Given the description of an element on the screen output the (x, y) to click on. 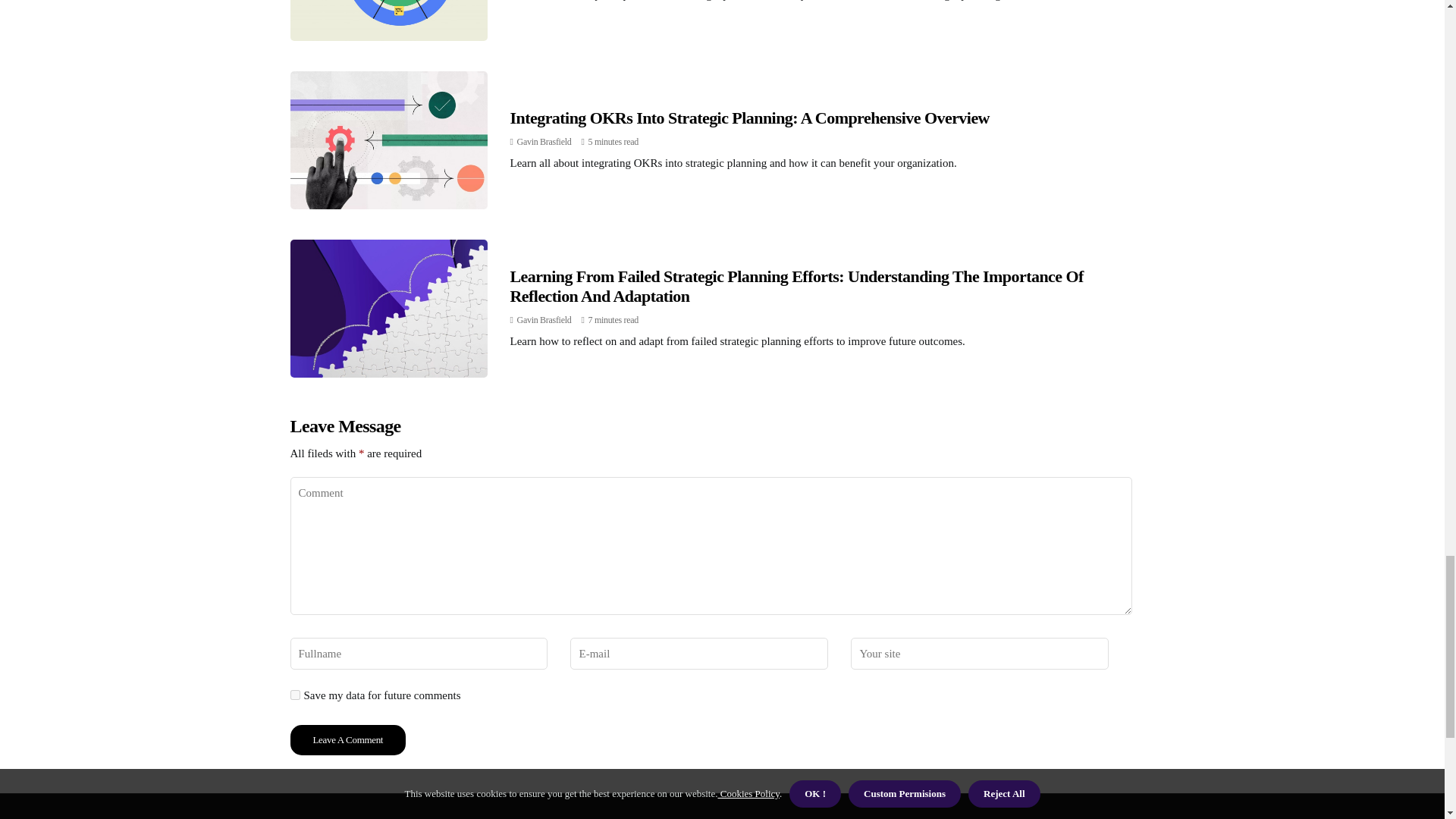
Posts by Gavin Brasfield (544, 141)
Leave a Comment (347, 739)
Posts by Gavin Brasfield (544, 319)
yes (294, 695)
